Given the description of an element on the screen output the (x, y) to click on. 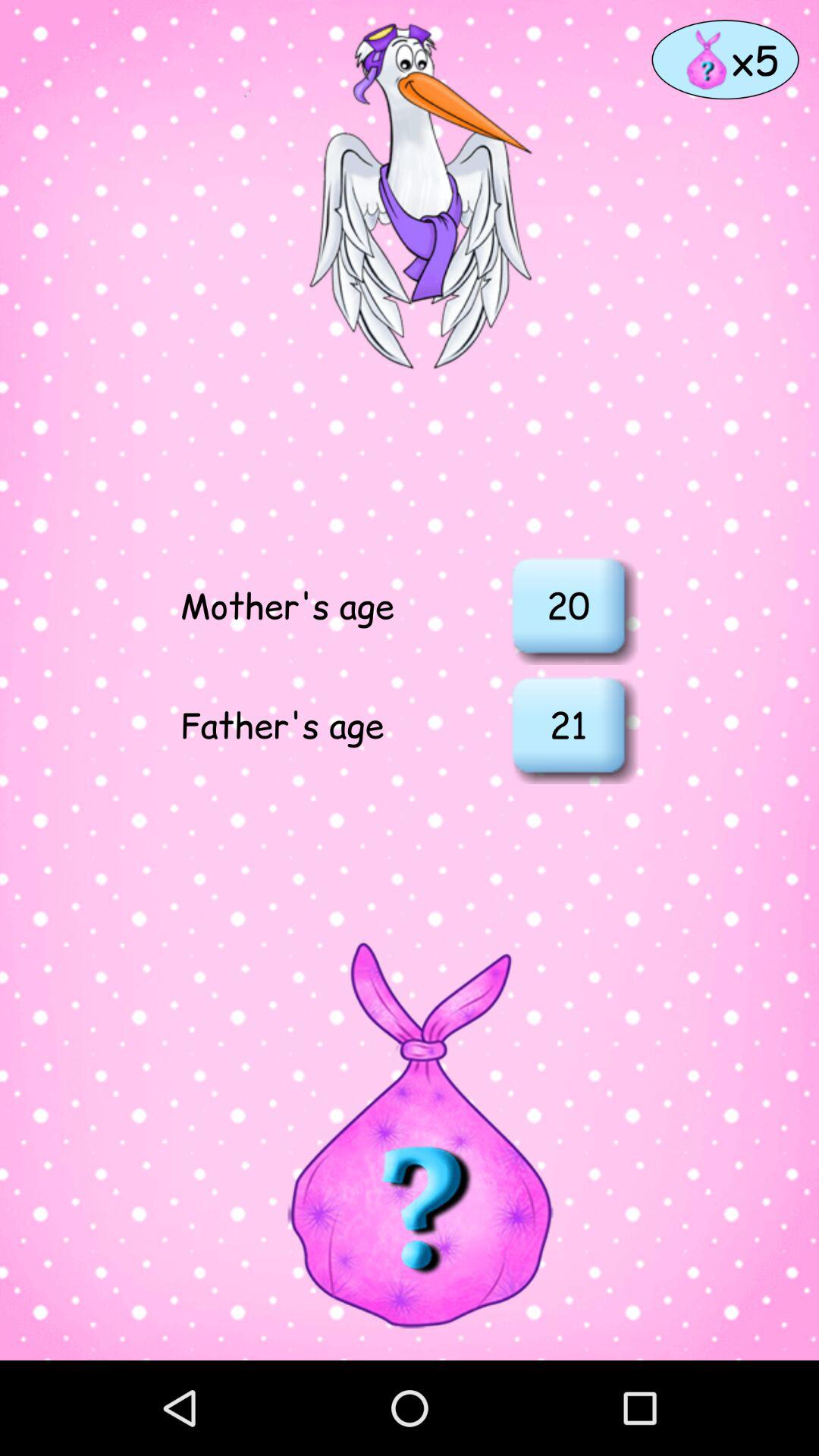
open the 20 (568, 604)
